Given the description of an element on the screen output the (x, y) to click on. 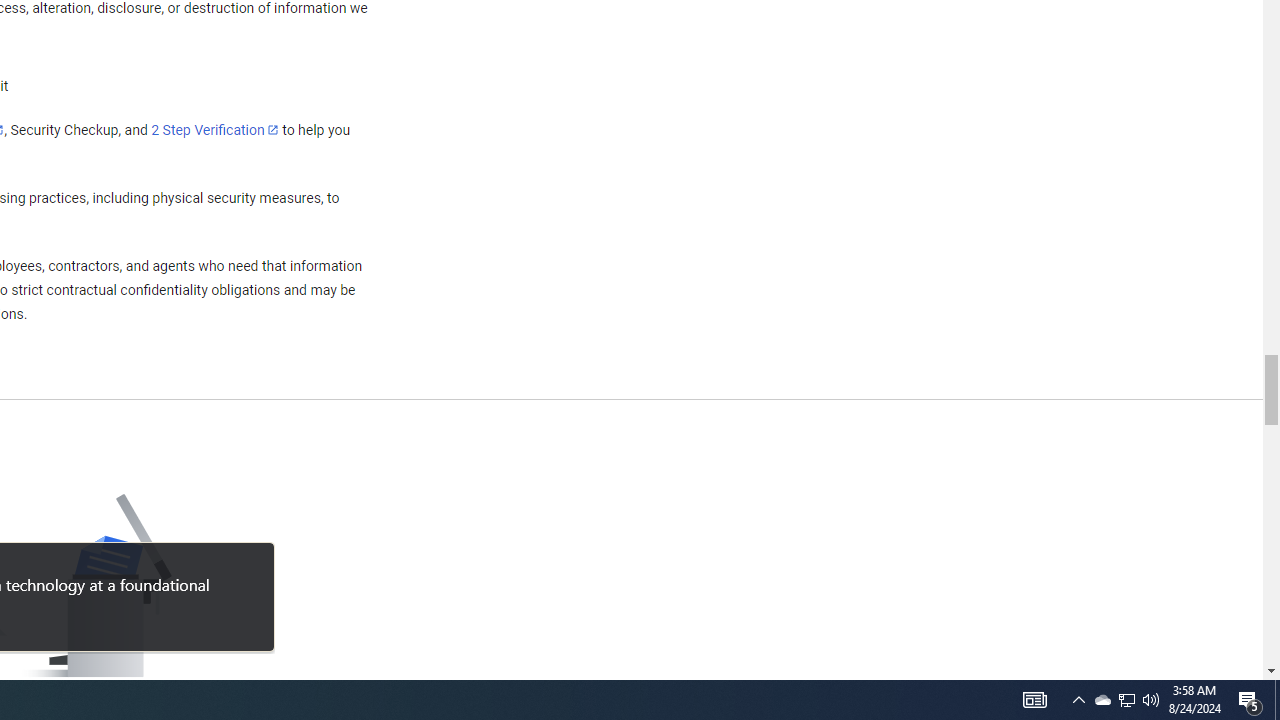
2 Step Verification (215, 129)
